Given the description of an element on the screen output the (x, y) to click on. 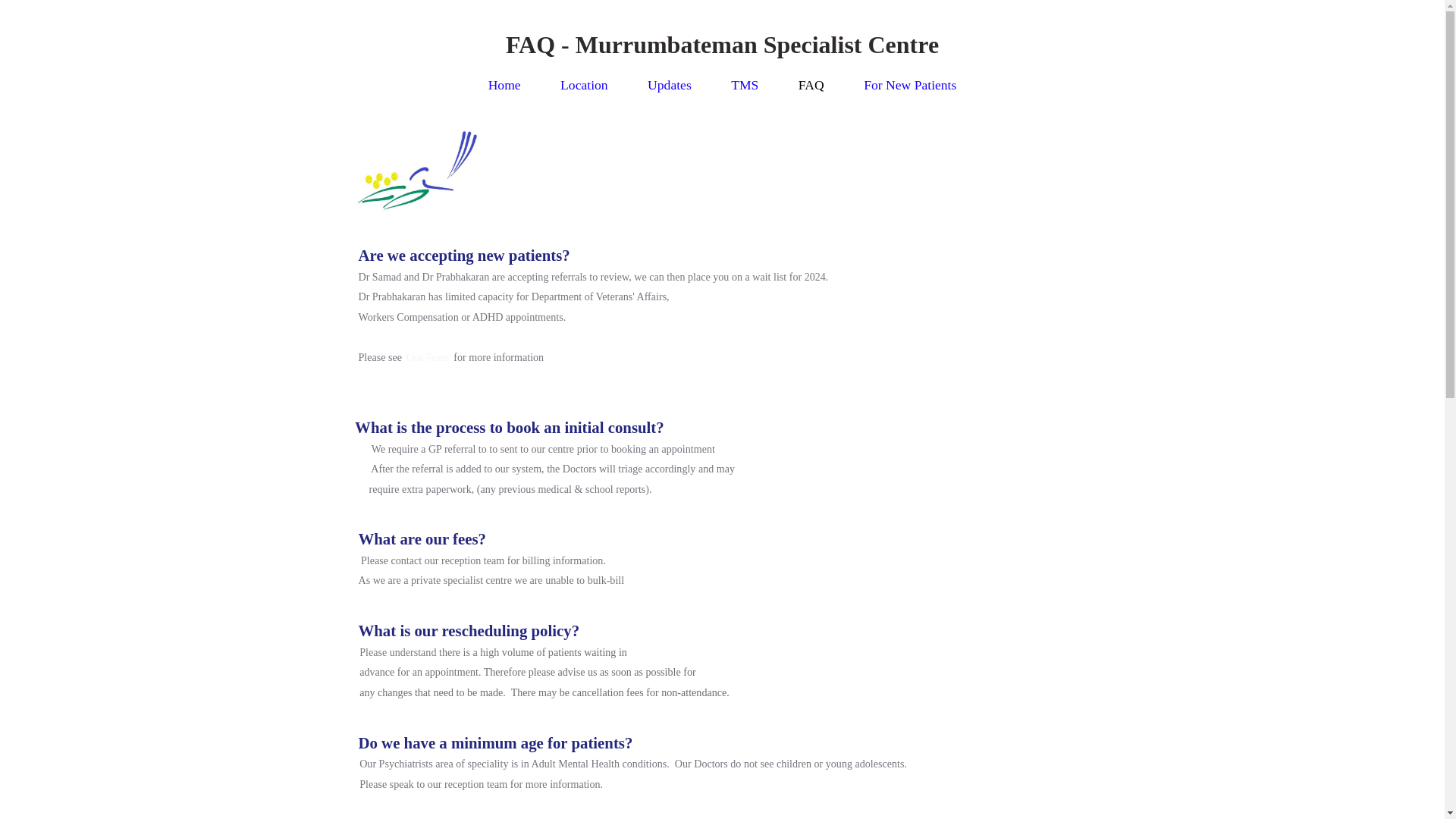
'Our Team' Element type: text (427, 357)
For New Patients Element type: text (909, 84)
Location Element type: text (584, 84)
FAQ Element type: text (811, 84)
Home Element type: text (504, 84)
TMS Element type: text (744, 84)
FAQ - Murrumbateman Specialist Centre Element type: text (721, 44)
Updates Element type: text (669, 84)
